Given the description of an element on the screen output the (x, y) to click on. 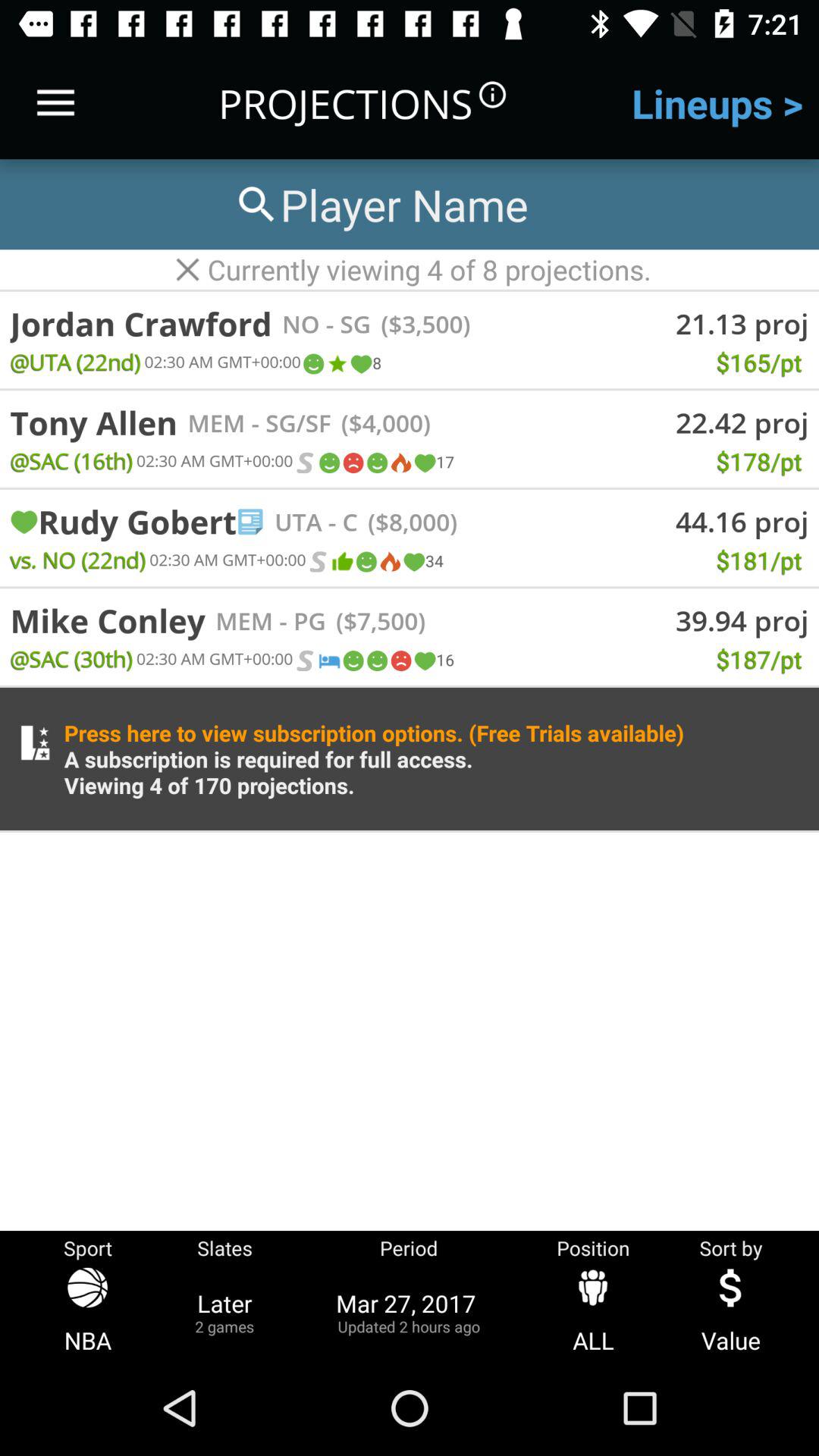
click the icon below  - pg icon (328, 660)
